Given the description of an element on the screen output the (x, y) to click on. 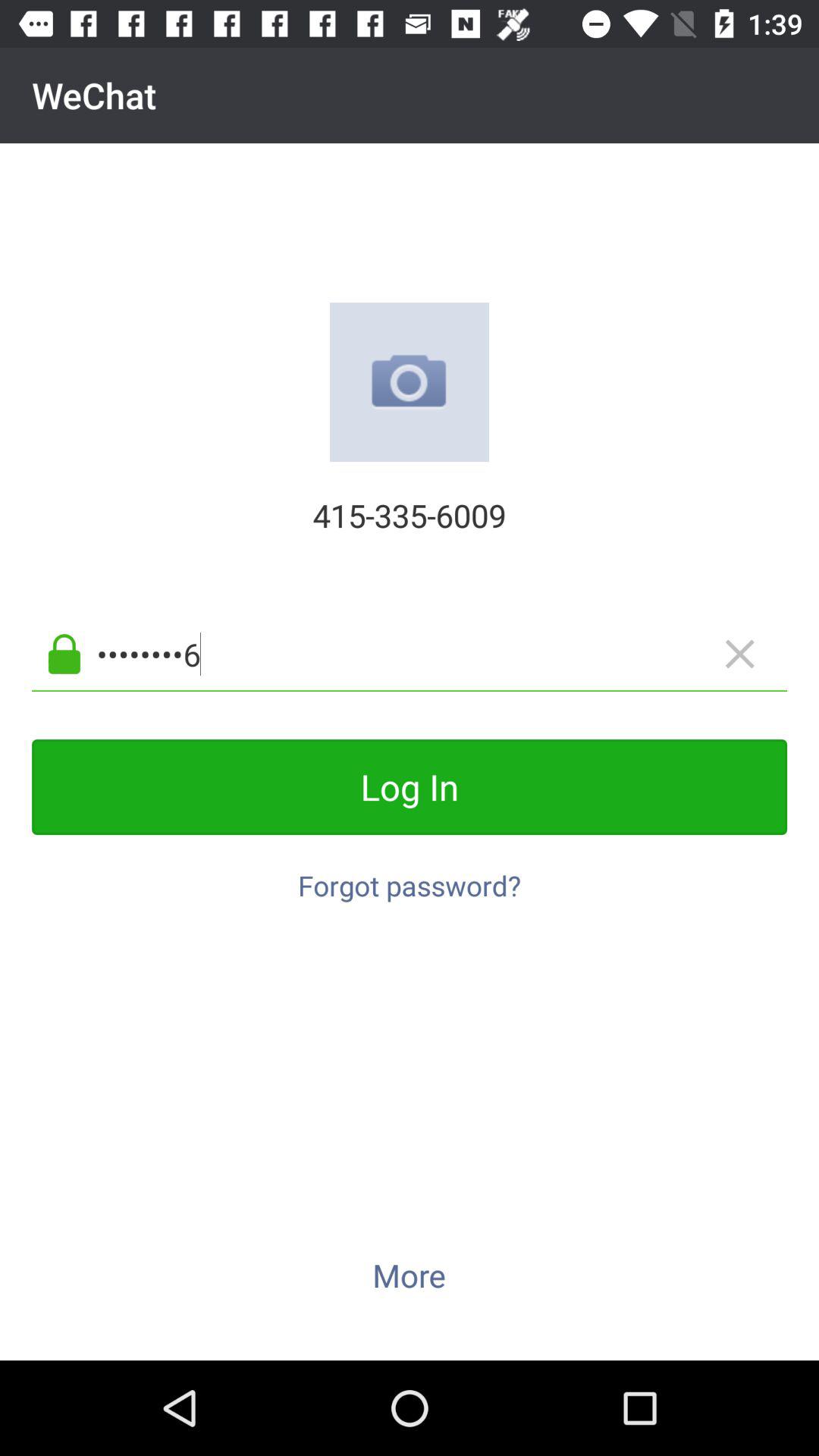
open the more icon (408, 1274)
